Given the description of an element on the screen output the (x, y) to click on. 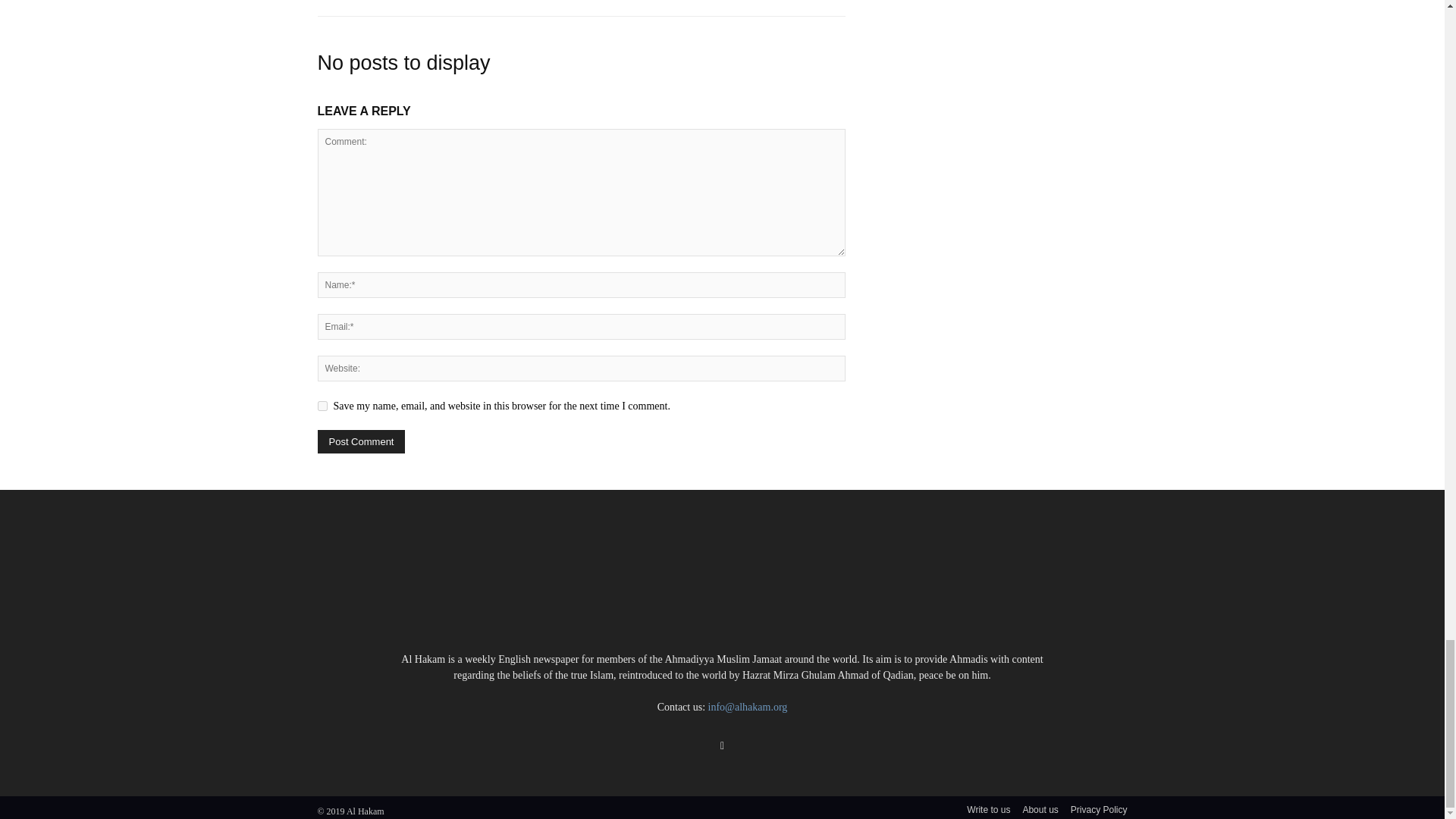
yes (321, 406)
Post Comment (360, 441)
